Given the description of an element on the screen output the (x, y) to click on. 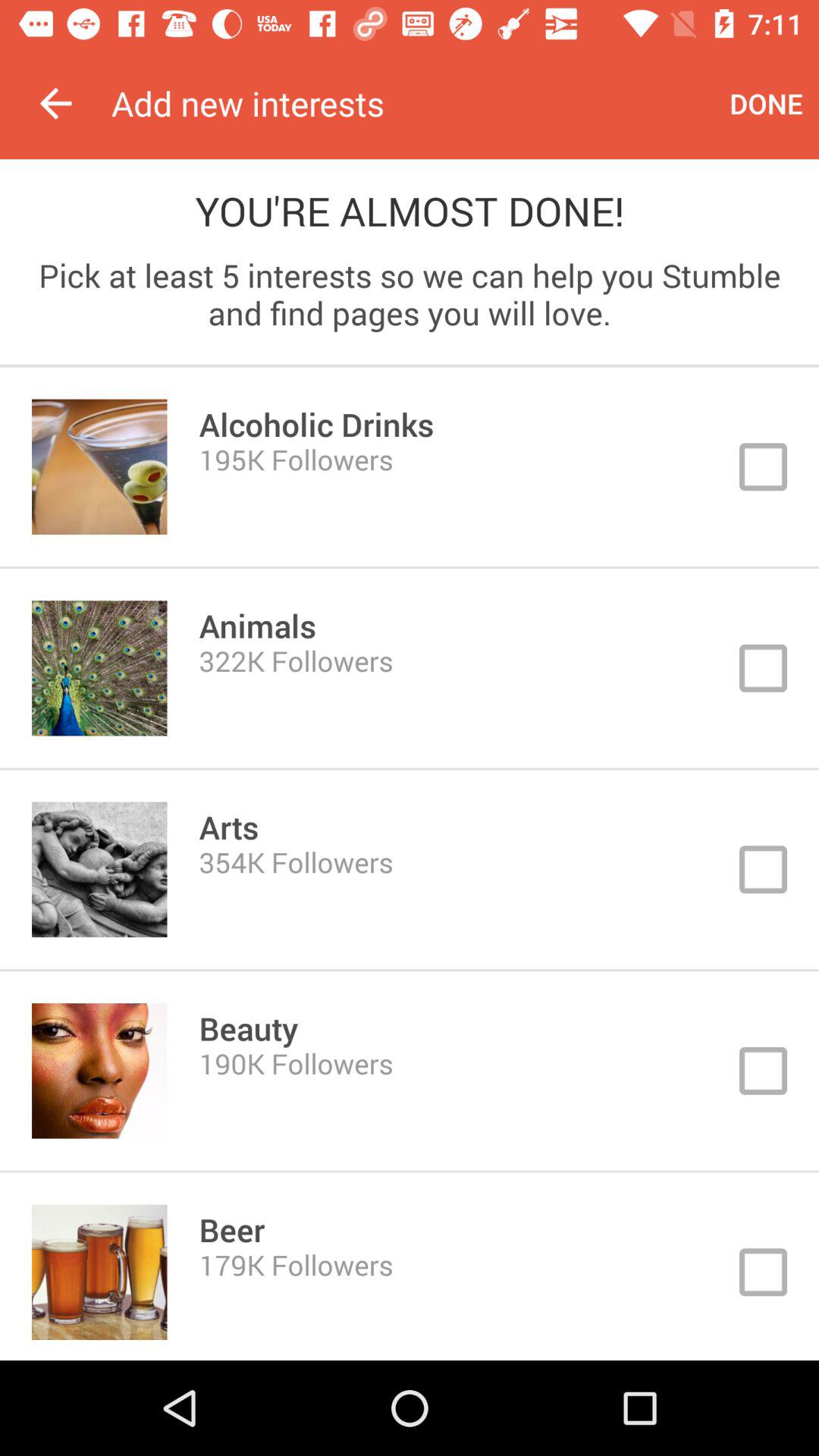
select interests (409, 667)
